Given the description of an element on the screen output the (x, y) to click on. 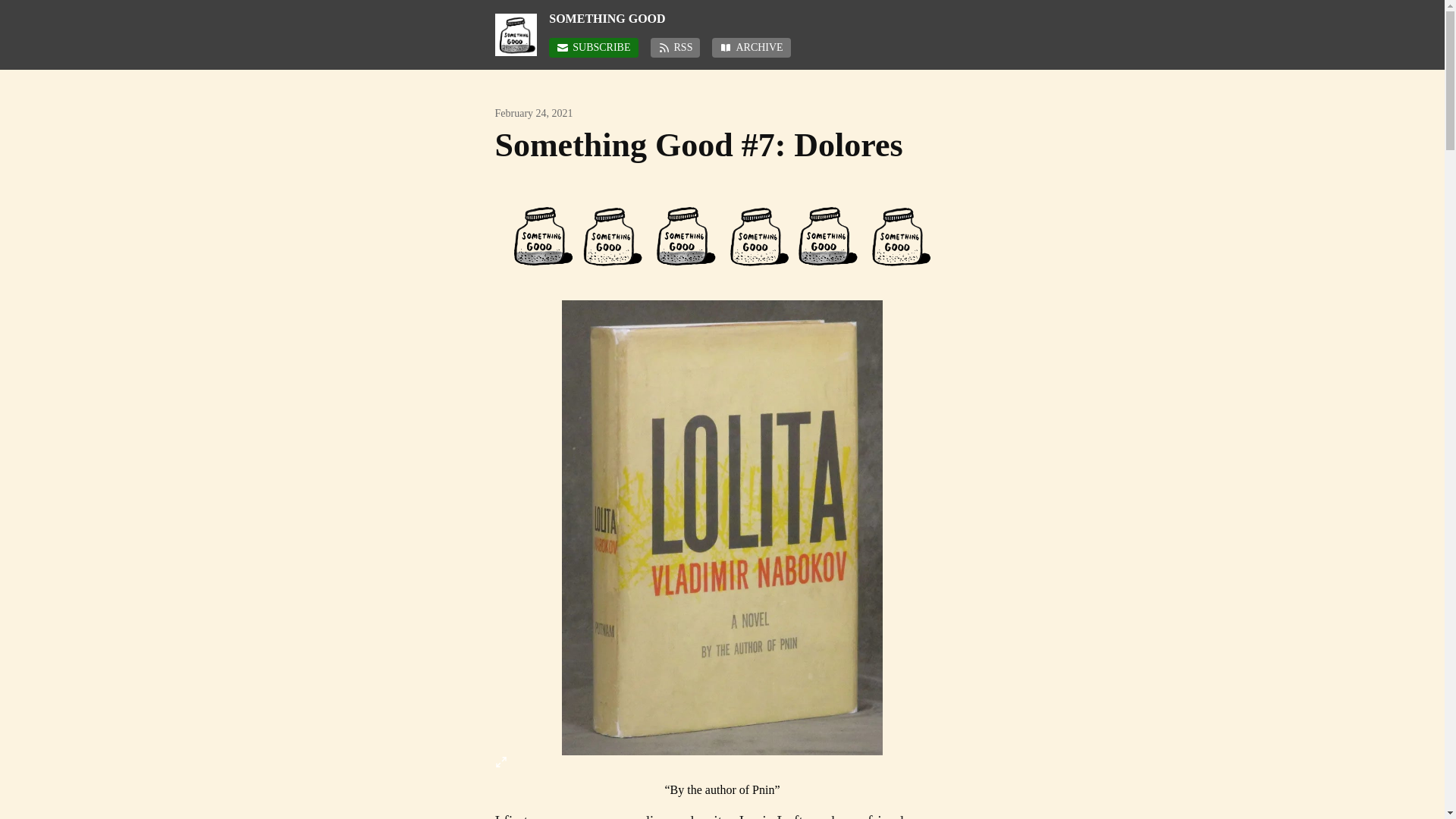
RSS (675, 47)
ARCHIVE (750, 47)
SUBSCRIBE (592, 47)
SOMETHING GOOD (748, 18)
